Given the description of an element on the screen output the (x, y) to click on. 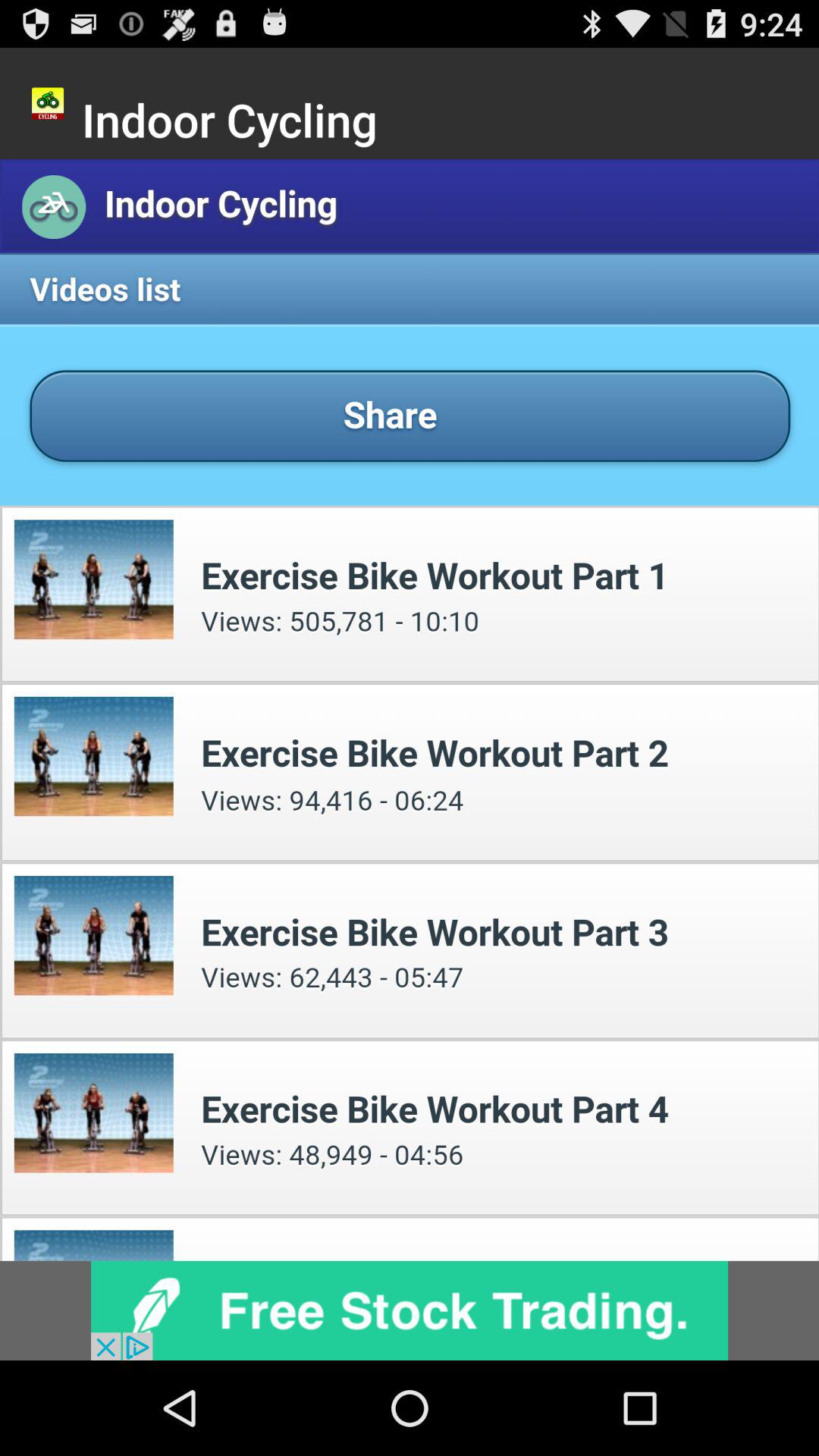
open advertisement (409, 1310)
